Given the description of an element on the screen output the (x, y) to click on. 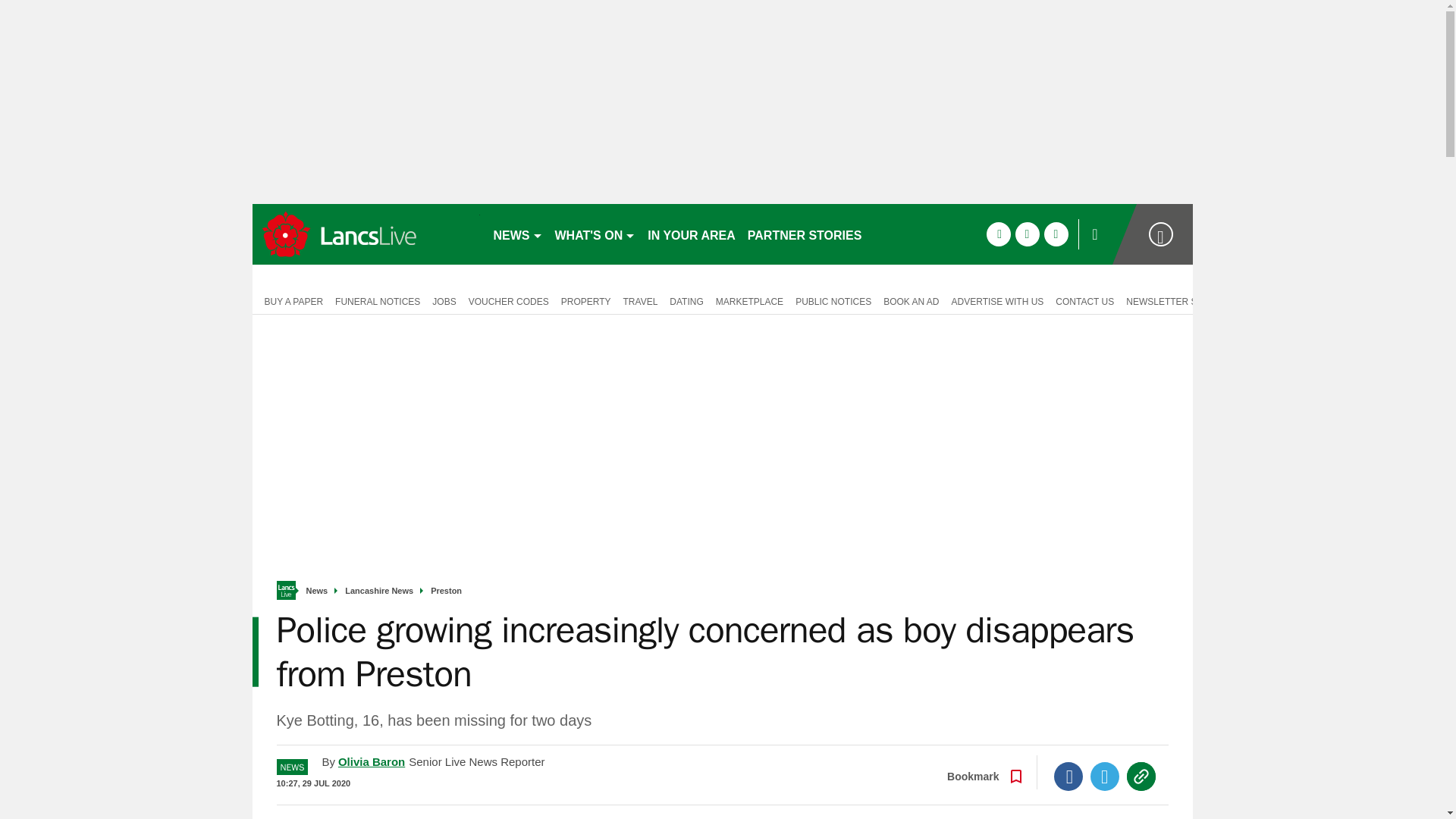
twitter (1026, 233)
Facebook (1068, 776)
Twitter (1104, 776)
NEWS (517, 233)
DATING (686, 300)
TRAVEL (640, 300)
ADVERTISE WITH US (996, 300)
BUY A PAPER (290, 300)
MARKETPLACE (749, 300)
BOOK AN AD (910, 300)
